Given the description of an element on the screen output the (x, y) to click on. 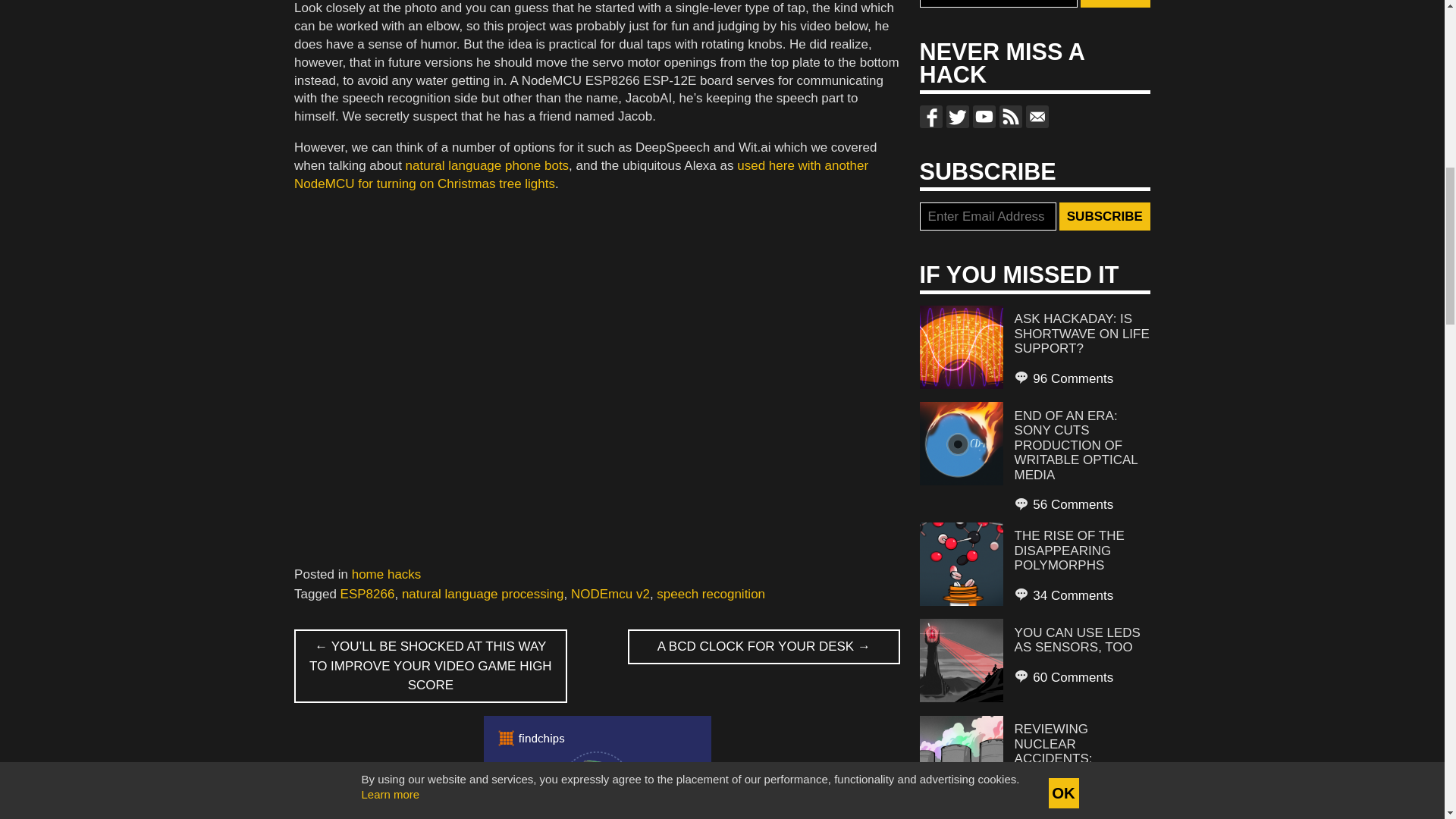
speech recognition (710, 594)
ESP8266 (367, 594)
natural language phone bots (487, 165)
NODEmcu v2 (609, 594)
natural language processing (482, 594)
Search (1115, 4)
home hacks (387, 574)
Search (1115, 4)
Subscribe (1104, 216)
